Given the description of an element on the screen output the (x, y) to click on. 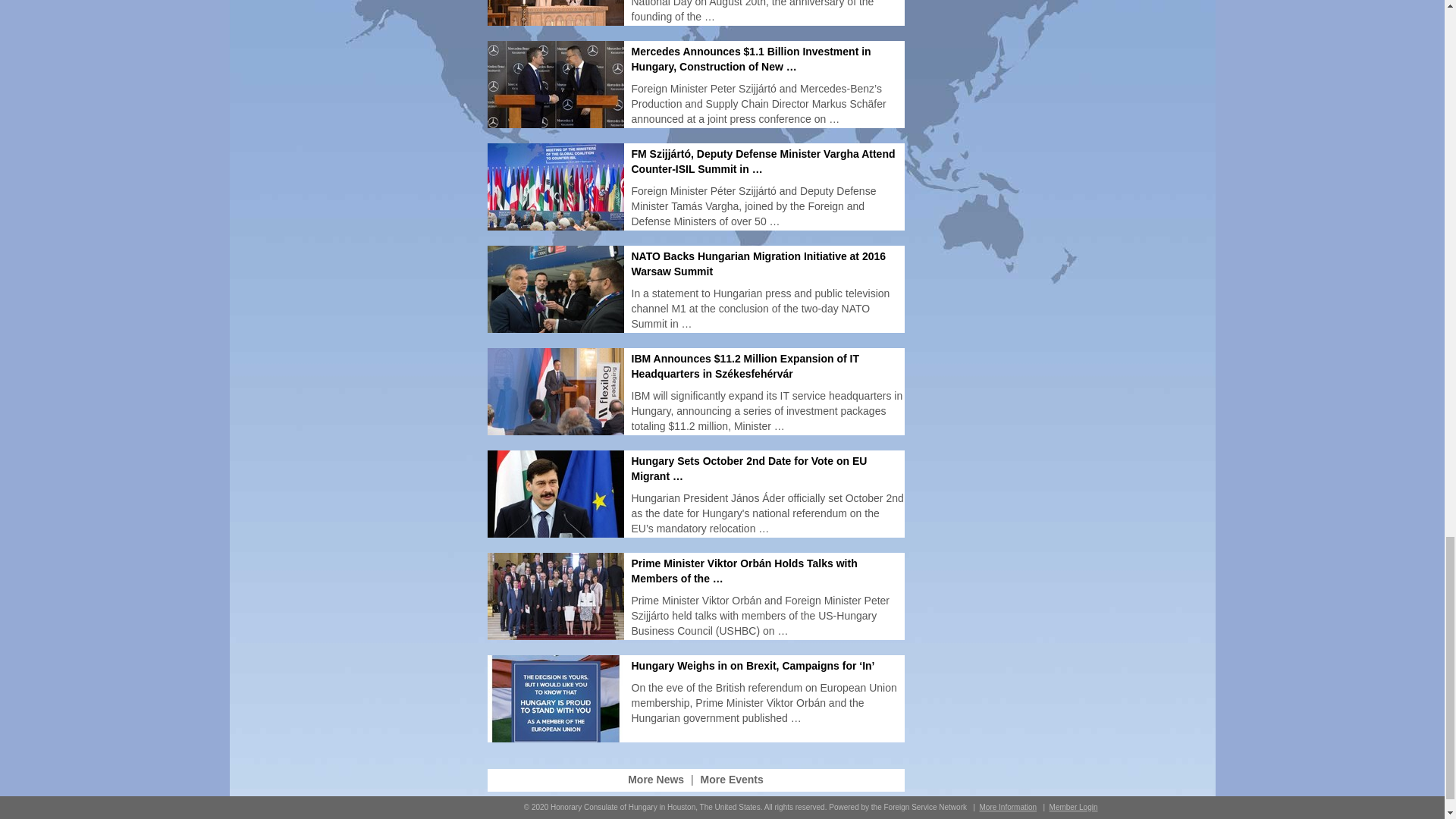
Hungary Sets October 2nd Date for Vote on EU Migrant Quotas (748, 468)
